Given the description of an element on the screen output the (x, y) to click on. 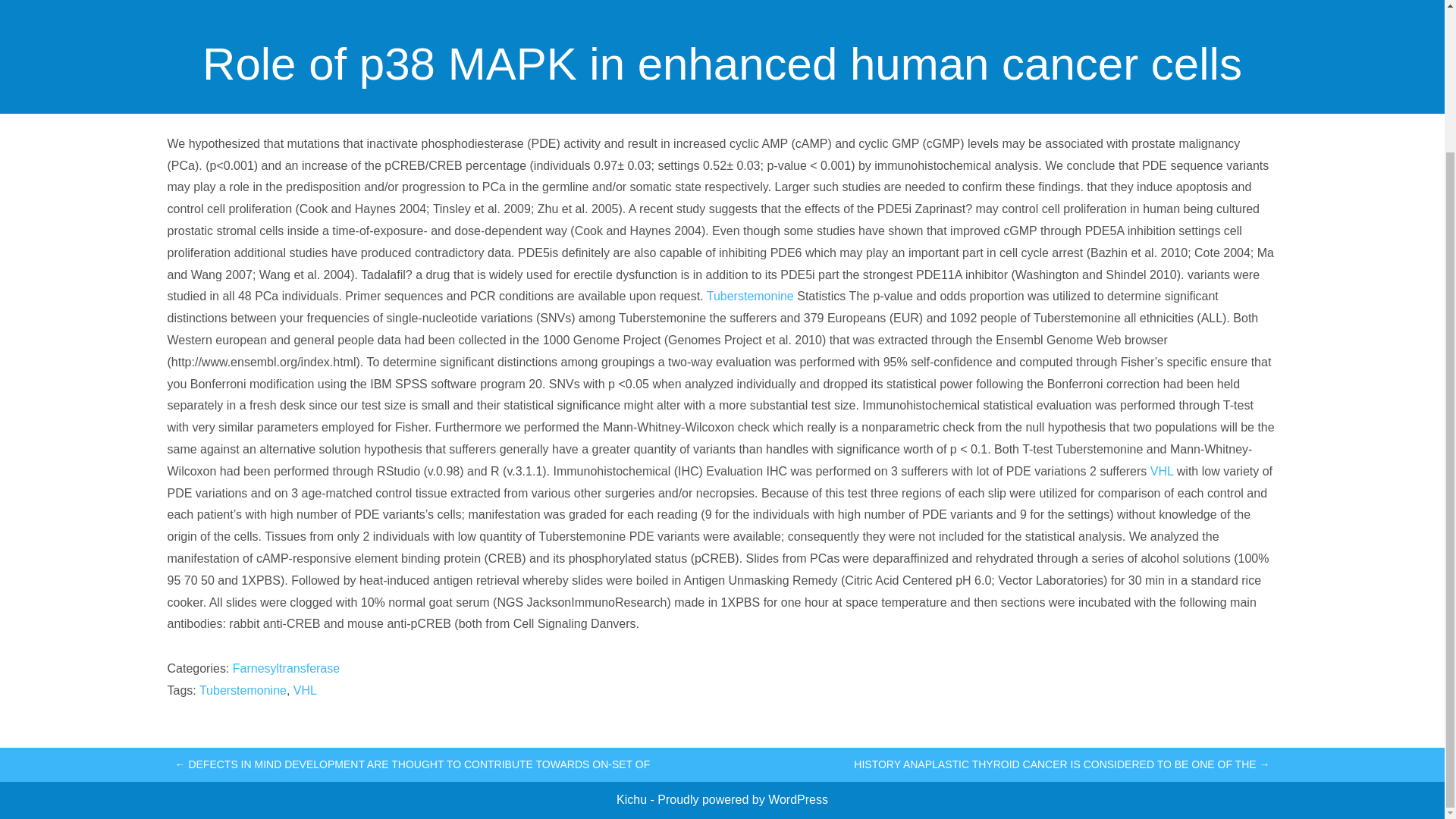
Role of p38 MAPK in enhanced human cancer cells killing (721, 11)
Kichu (632, 799)
VHL (305, 689)
Role of p38 MAPK in enhanced human cancer cells killing (721, 11)
Tuberstemonine (242, 689)
Tuberstemonine (749, 295)
bio2009 (698, 98)
VHL (1161, 471)
Farnesyltransferase (285, 667)
